Given the description of an element on the screen output the (x, y) to click on. 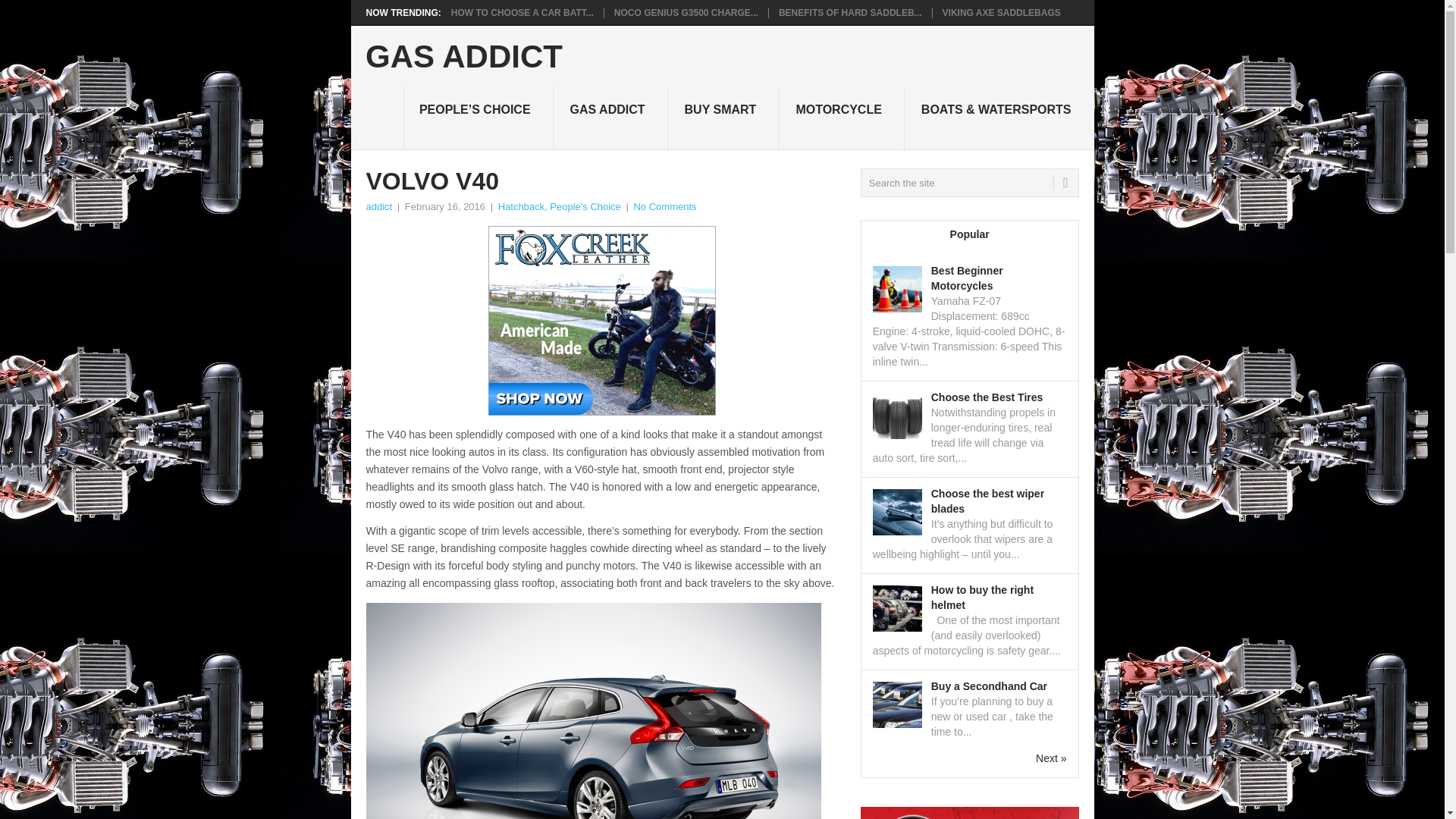
Popular (969, 235)
Search the site (969, 182)
BENEFITS OF HARD SADDLEB... (849, 12)
Viking AXE Saddlebags (1001, 12)
BUY SMART (724, 118)
MOTORCYCLE (841, 118)
Choose the Best Tires (987, 397)
Hatchback (520, 206)
People's Choice (585, 206)
Best Beginner Motorcycles (967, 277)
Choose the best wiper blades (987, 501)
GAS ADDICT (611, 118)
No Comments (664, 206)
Posts by addict (378, 206)
addict (378, 206)
